Given the description of an element on the screen output the (x, y) to click on. 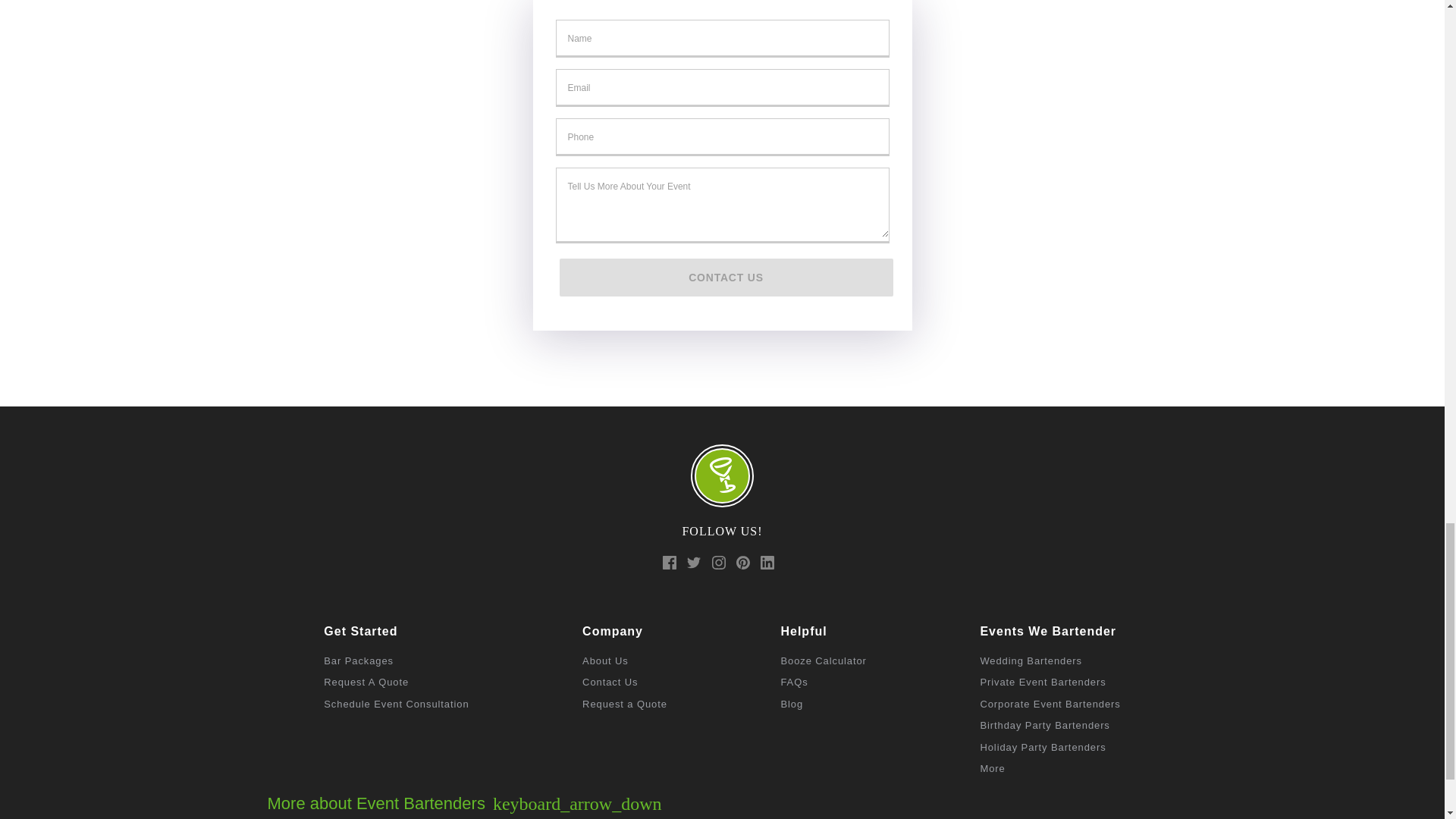
FAQs (794, 681)
Contact Us (609, 681)
FAQs (791, 704)
Private Event Bartenders (1042, 681)
Schedule Event Consultation (395, 704)
CONTACT US (726, 277)
Corporate Event Bartenders (1049, 704)
Holiday Party Bartenders (1042, 747)
Request A Quote (366, 681)
Private Event Bartenders (1042, 681)
Instagram icon (718, 562)
LinkedIn icon (767, 562)
Wedding Bartenders (1030, 660)
Corporate Event Bartenders (1049, 704)
Holiday Party Bartenders (1042, 747)
